Given the description of an element on the screen output the (x, y) to click on. 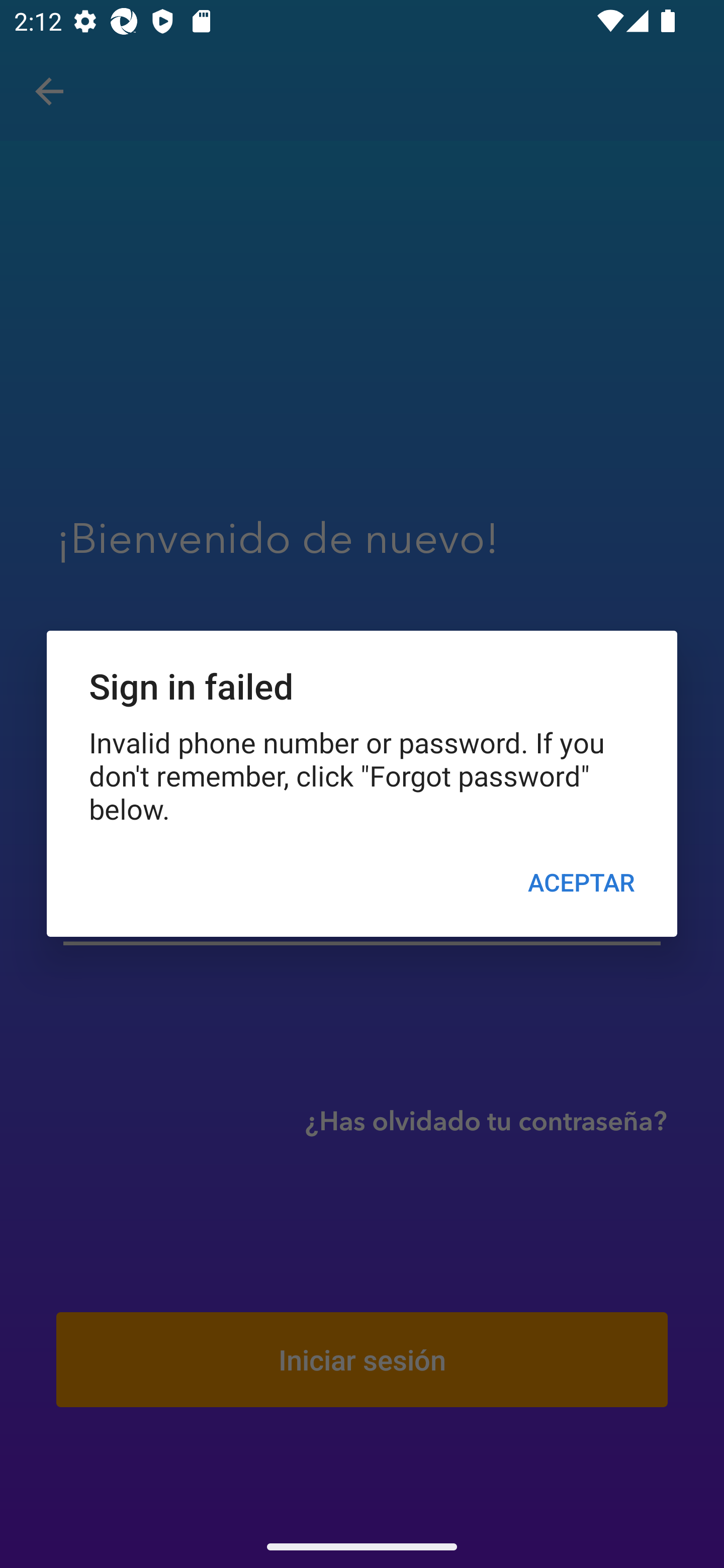
ACEPTAR (580, 881)
